Given the description of an element on the screen output the (x, y) to click on. 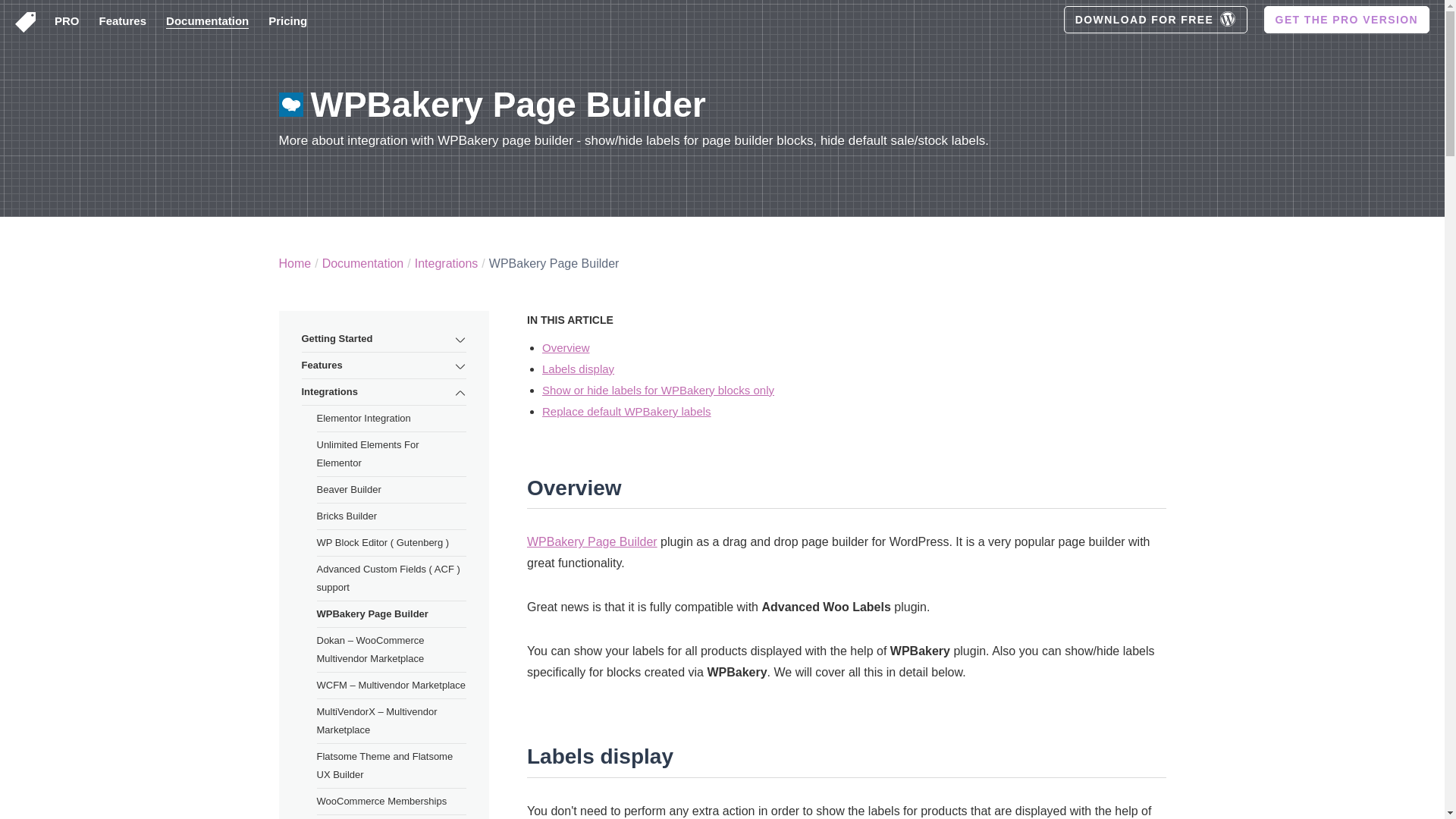
DOWNLOAD FOR FREE (1155, 19)
Features (384, 365)
GET THE PRO VERSION (1346, 19)
PRO (67, 21)
Integrations (446, 263)
Documentation (206, 20)
Pricing (287, 21)
Documentation (362, 263)
Getting Started (384, 338)
Integrations (384, 392)
Features (123, 21)
Elementor Integration (392, 418)
Home (295, 263)
